Given the description of an element on the screen output the (x, y) to click on. 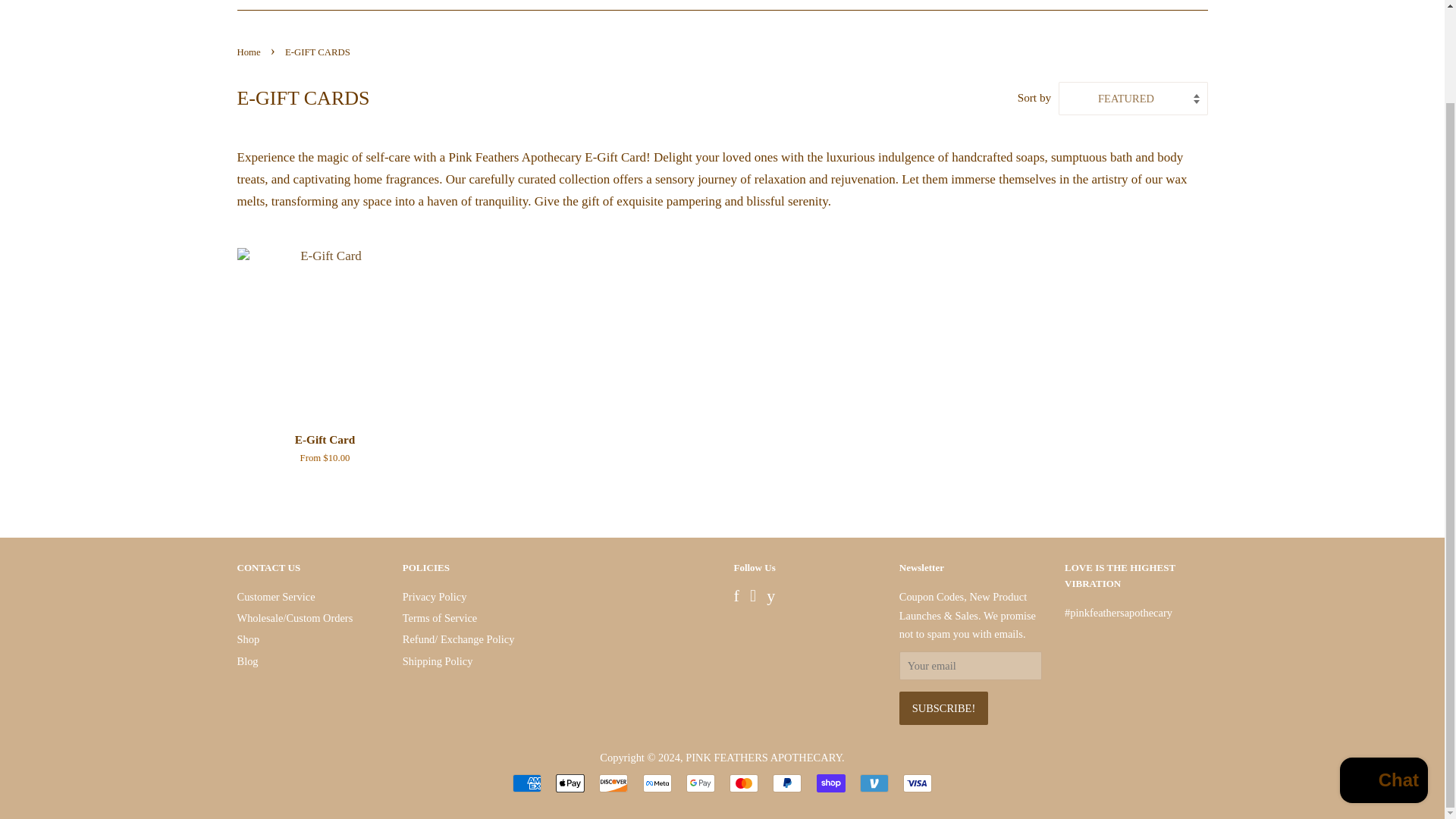
PayPal (787, 782)
Subscribe! (943, 707)
Venmo (874, 782)
Shop Pay (830, 782)
Meta Pay (657, 782)
COLLECTIONS (659, 4)
Visa (916, 782)
Shopify online store chat (1383, 675)
Mastercard (743, 782)
Back to the frontpage (249, 51)
